Given the description of an element on the screen output the (x, y) to click on. 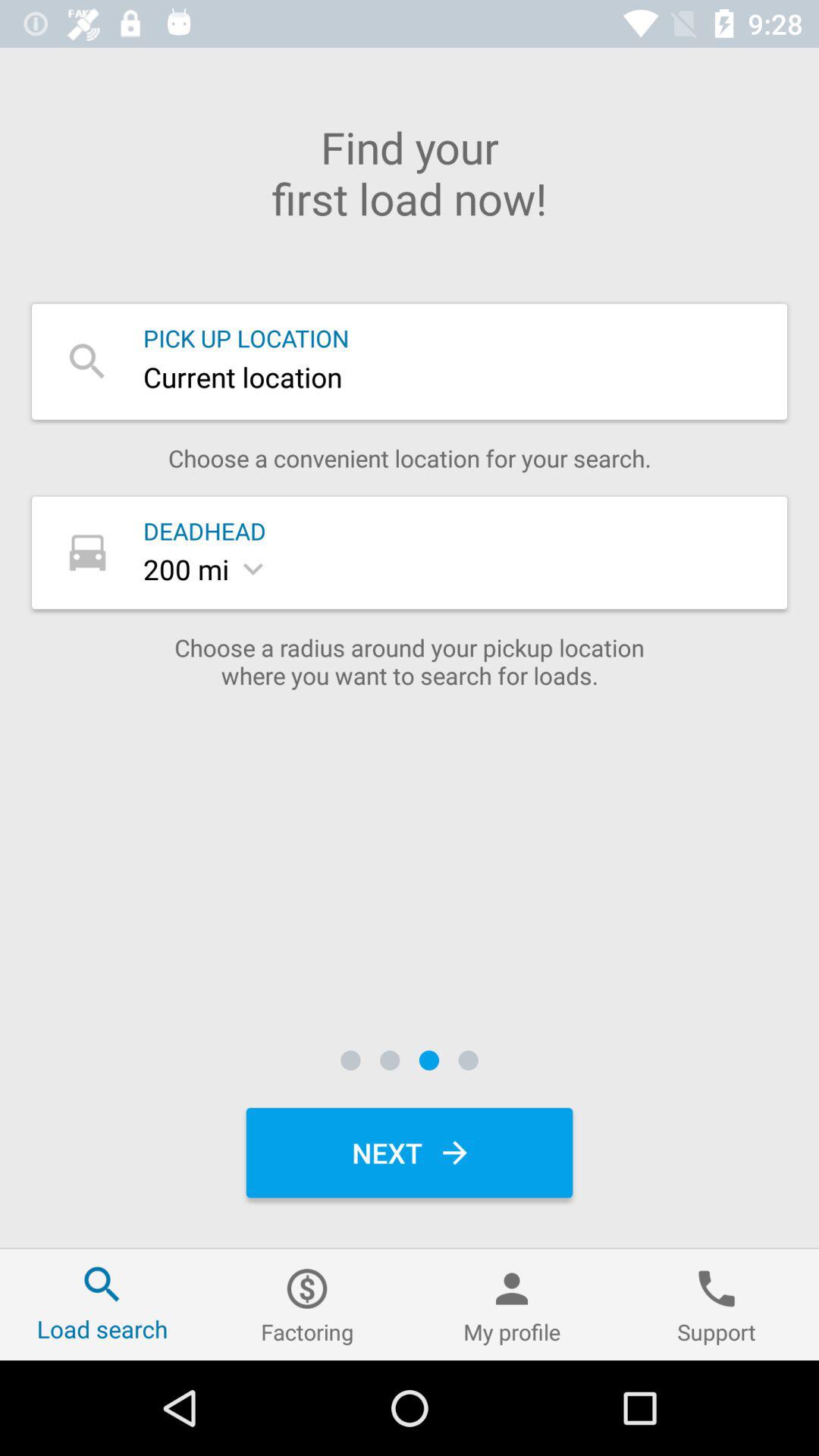
scroll until support (716, 1304)
